Given the description of an element on the screen output the (x, y) to click on. 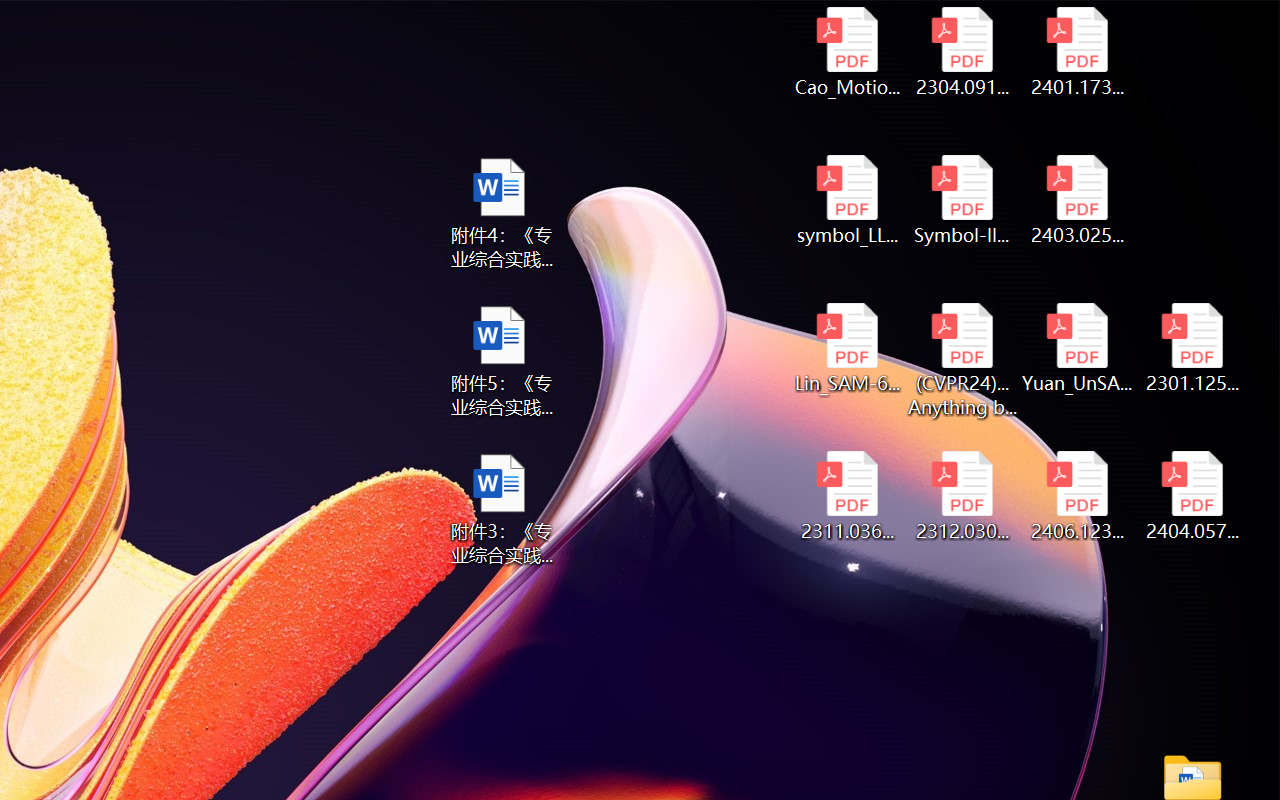
2403.02502v1.pdf (1077, 200)
2301.12597v3.pdf (1192, 348)
2304.09121v3.pdf (962, 52)
2312.03032v2.pdf (962, 496)
2401.17399v1.pdf (1077, 52)
2311.03658v2.pdf (846, 496)
2406.12373v2.pdf (1077, 496)
symbol_LLM.pdf (846, 200)
(CVPR24)Matching Anything by Segmenting Anything.pdf (962, 360)
Symbol-llm-v2.pdf (962, 200)
2404.05719v1.pdf (1192, 496)
